Given the description of an element on the screen output the (x, y) to click on. 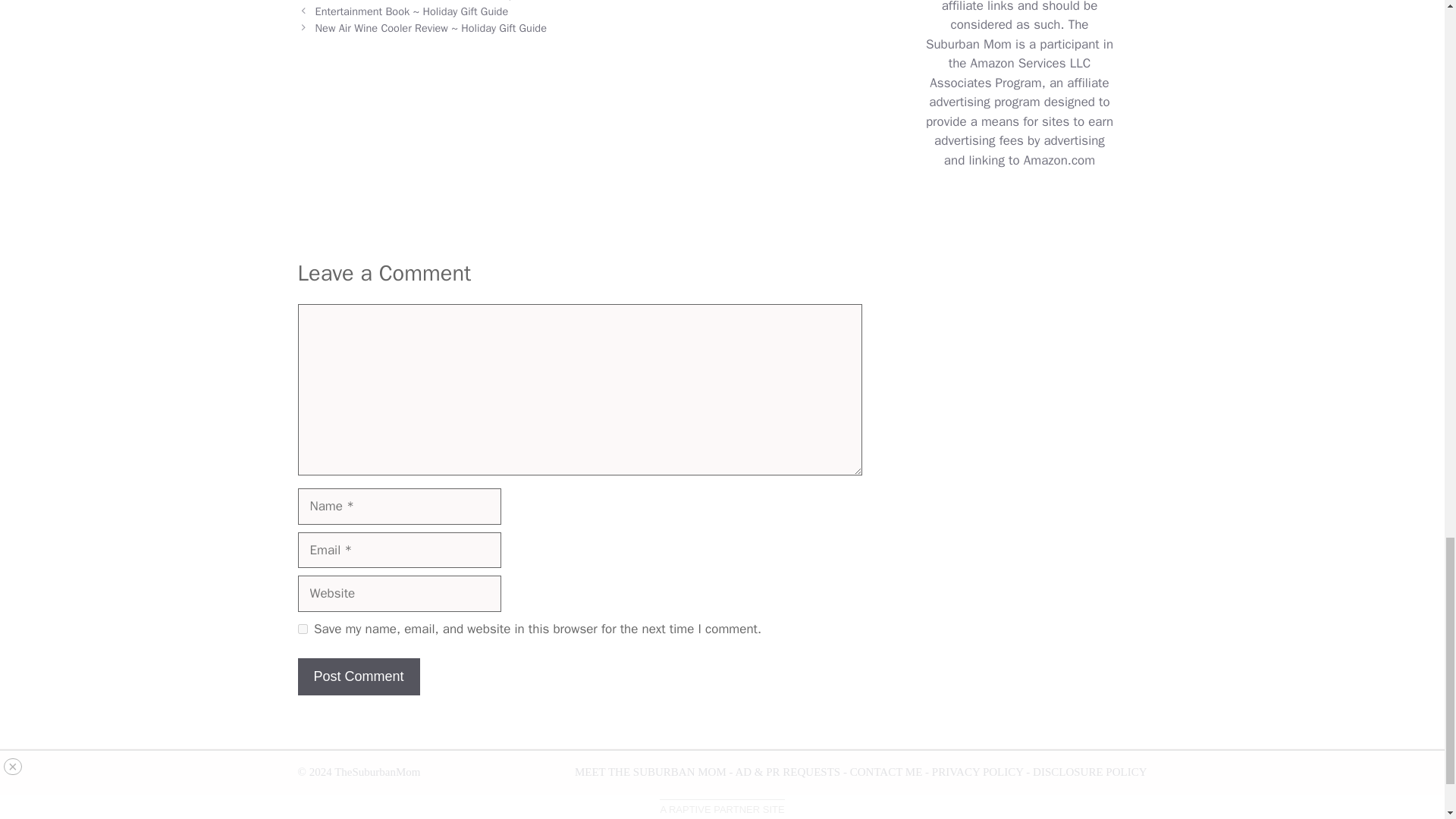
Post Comment (358, 676)
yes (302, 628)
